Given the description of an element on the screen output the (x, y) to click on. 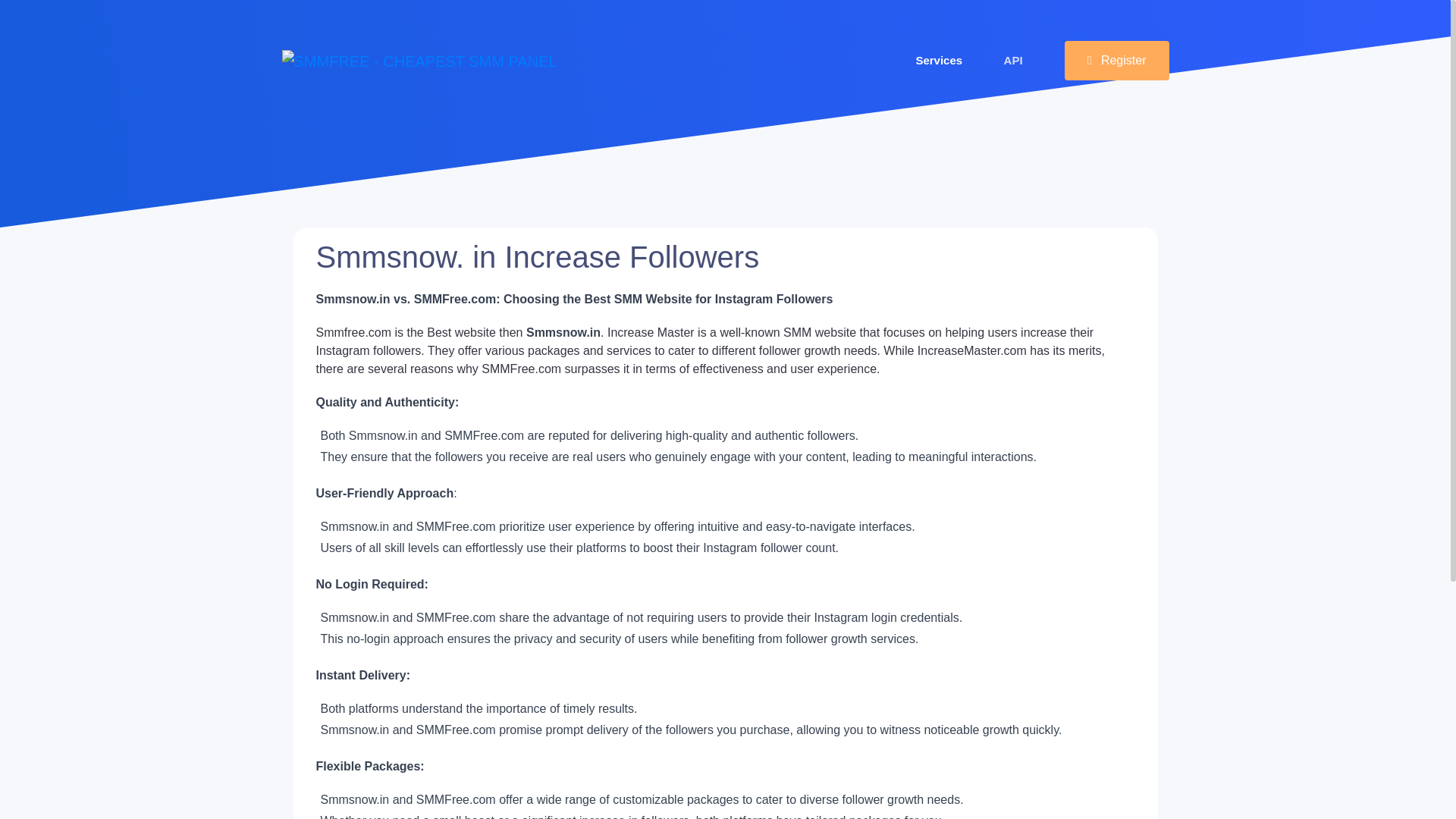
SMMFREE - CHEAPEST SMM PANEL  (419, 60)
Register (1116, 60)
